Given the description of an element on the screen output the (x, y) to click on. 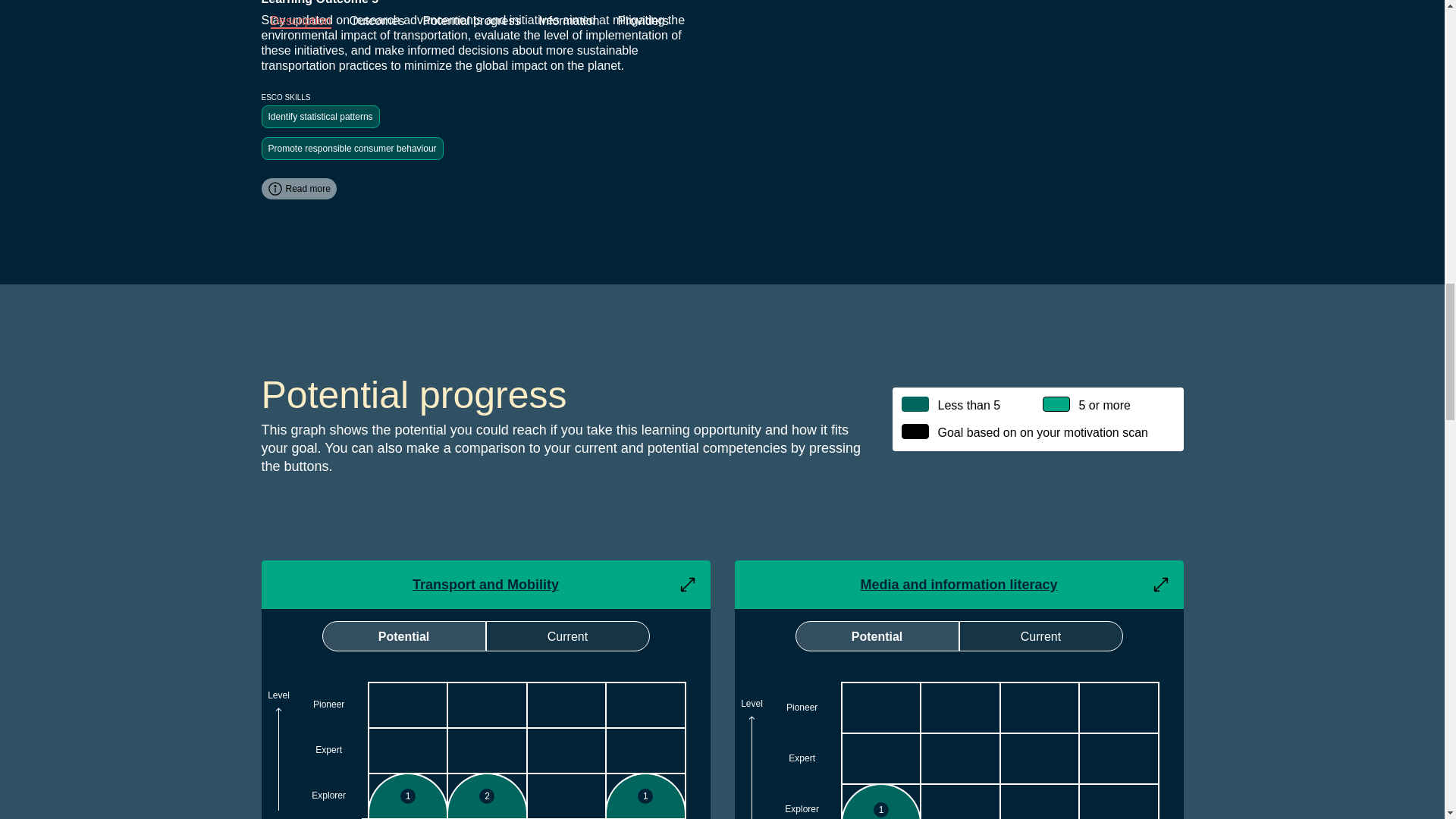
Show learning opportunities (1118, 707)
Show learning opportunities (645, 795)
Show learning opportunities (881, 757)
Show learning opportunities (959, 707)
Show learning opportunities (486, 795)
Show learning opportunities (1039, 757)
Show learning opportunities (566, 705)
Show learning opportunities (959, 757)
Show learning opportunities (1118, 757)
Promote responsible consumer behaviour (351, 148)
Identify statistical patterns (319, 116)
Potential (402, 635)
Show learning opportunities (486, 705)
Show learning opportunities (645, 705)
Show learning opportunities (645, 750)
